Given the description of an element on the screen output the (x, y) to click on. 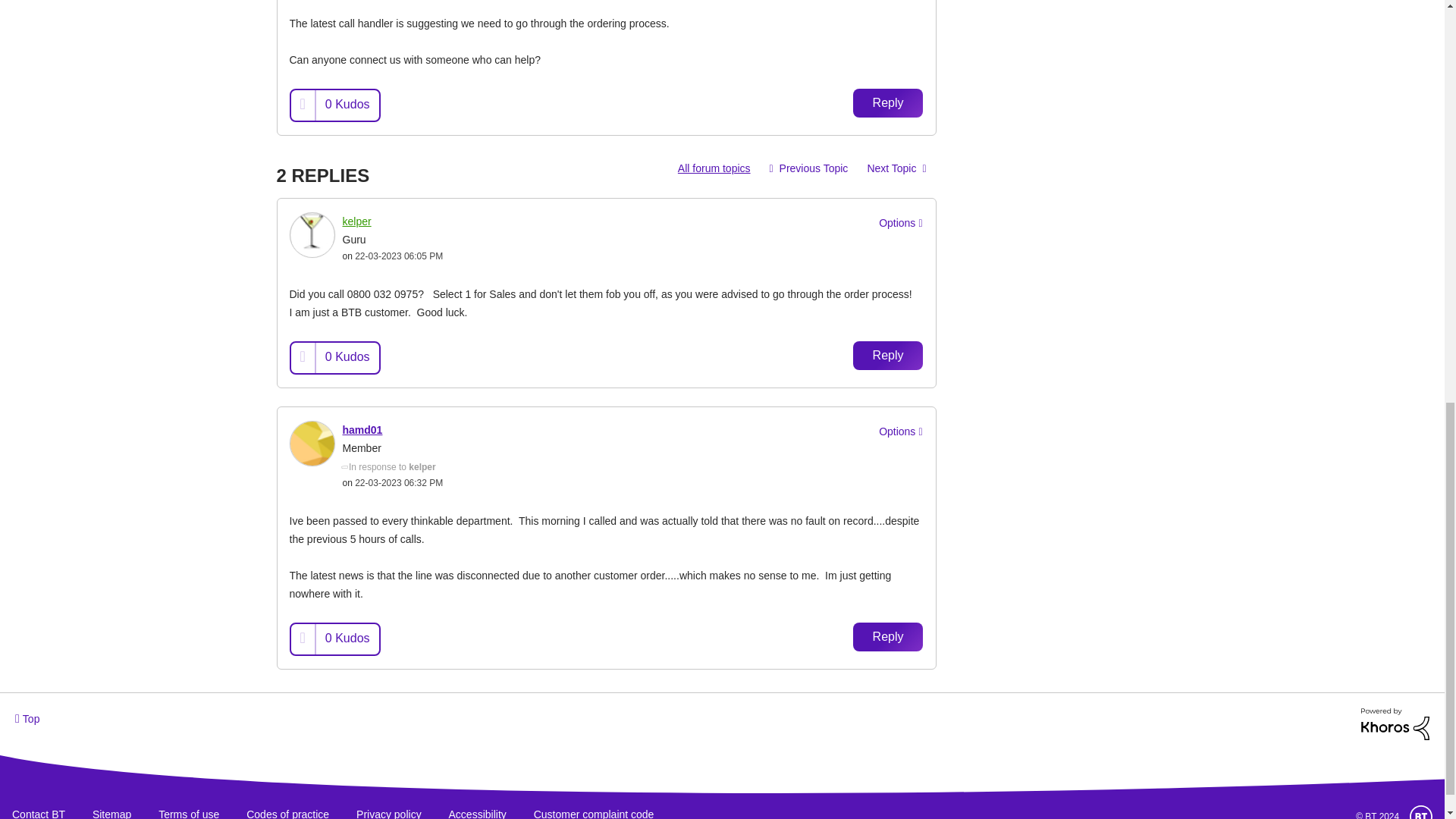
Top (27, 717)
The total number of kudos this post has received. (346, 357)
All forum topics (714, 167)
Issue with assigned IP address from the BT Business router (809, 167)
Reply (888, 102)
The total number of kudos this post has received. (346, 104)
Show option menu (898, 431)
Show option menu (898, 223)
Broadband (714, 167)
Capped upload speeds (896, 167)
hamd01 (311, 443)
kelper (311, 234)
Top (27, 717)
